Given the description of an element on the screen output the (x, y) to click on. 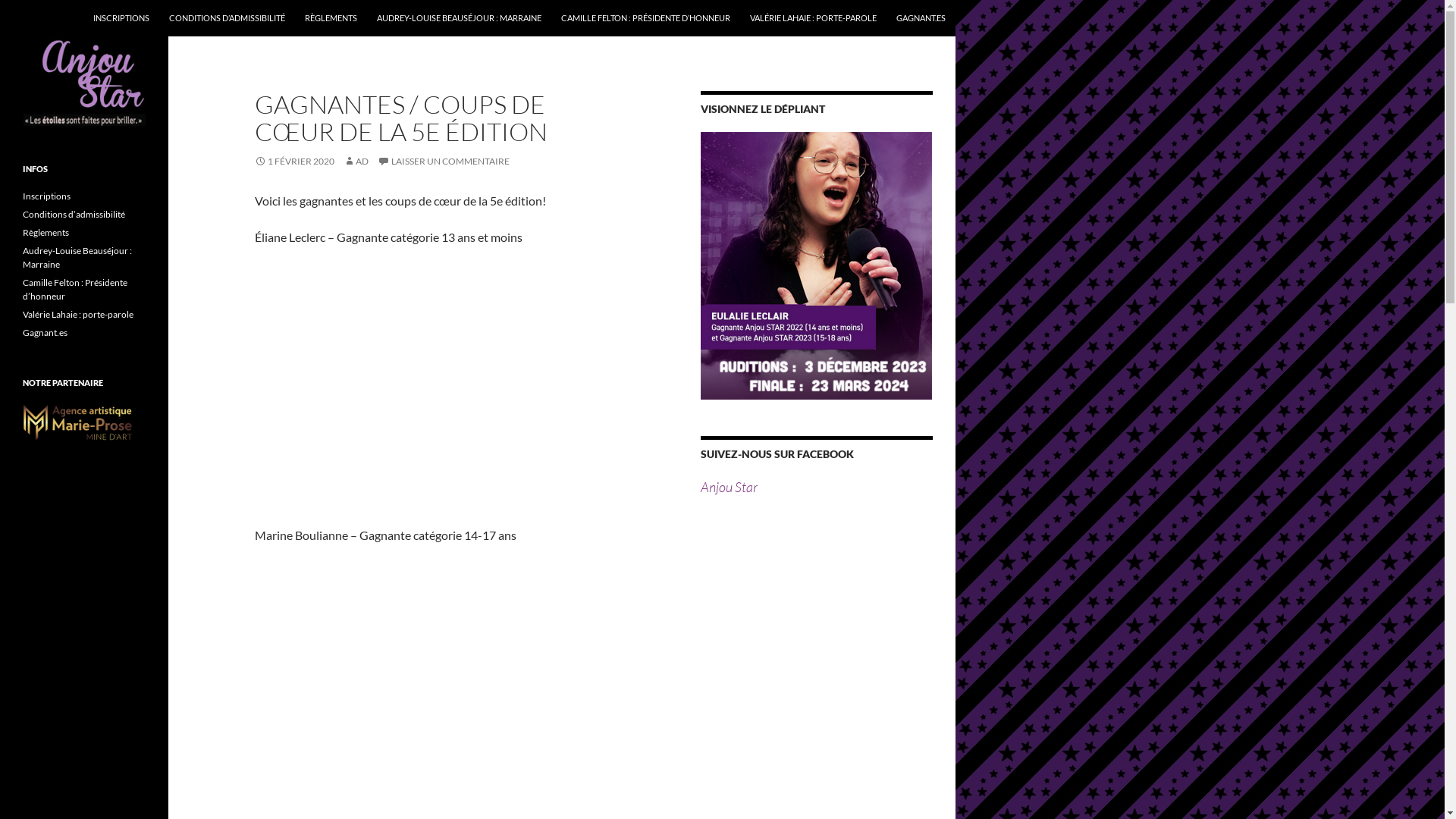
GAGNANT.ES Element type: text (920, 18)
Gagnant.es Element type: text (44, 332)
Inscriptions Element type: text (46, 195)
INSCRIPTIONS Element type: text (121, 18)
LAISSER UN COMMENTAIRE Element type: text (443, 160)
AD Element type: text (355, 160)
Anjou Star Element type: text (728, 486)
